Given the description of an element on the screen output the (x, y) to click on. 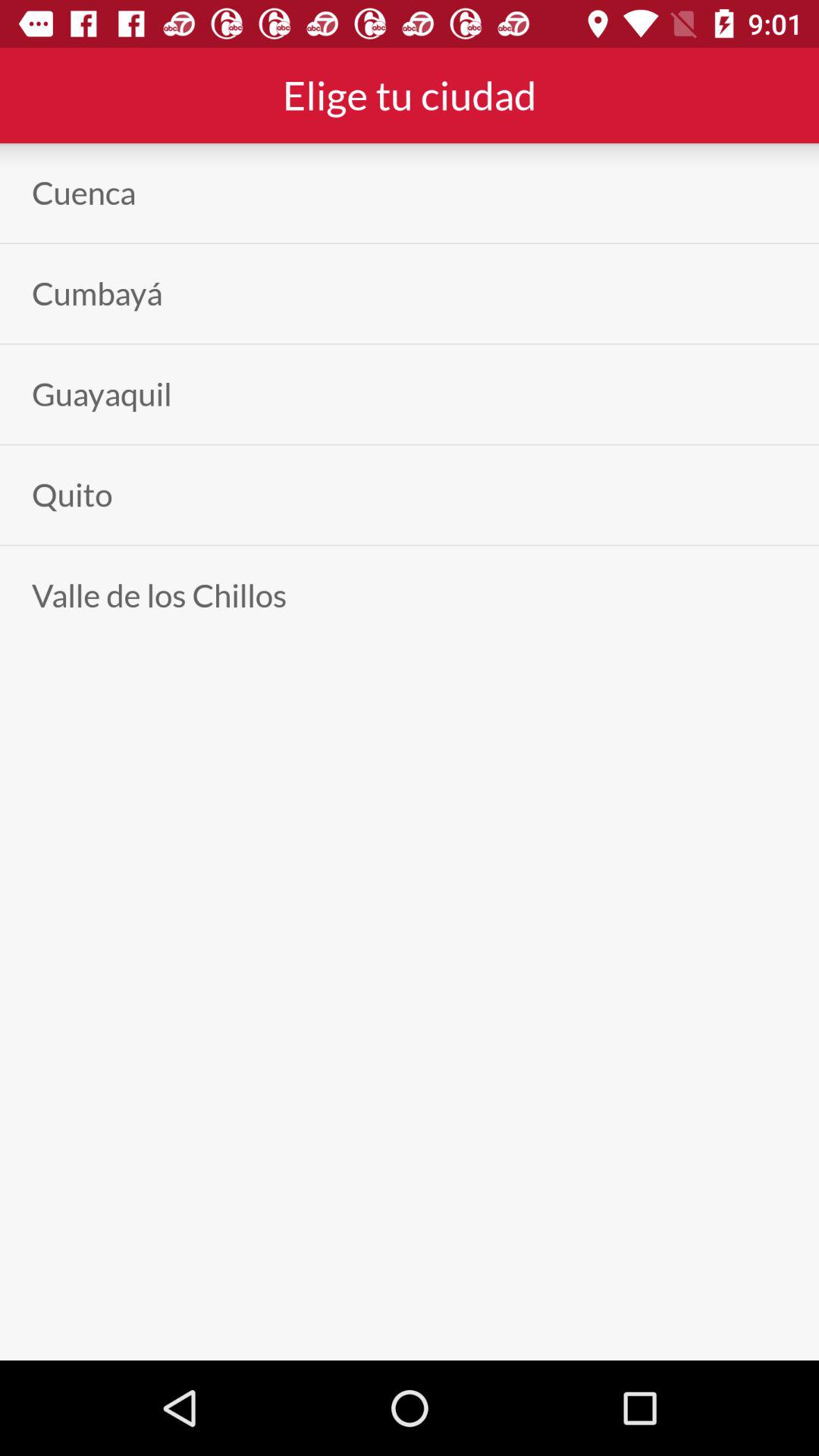
flip until the guayaquil item (101, 394)
